Given the description of an element on the screen output the (x, y) to click on. 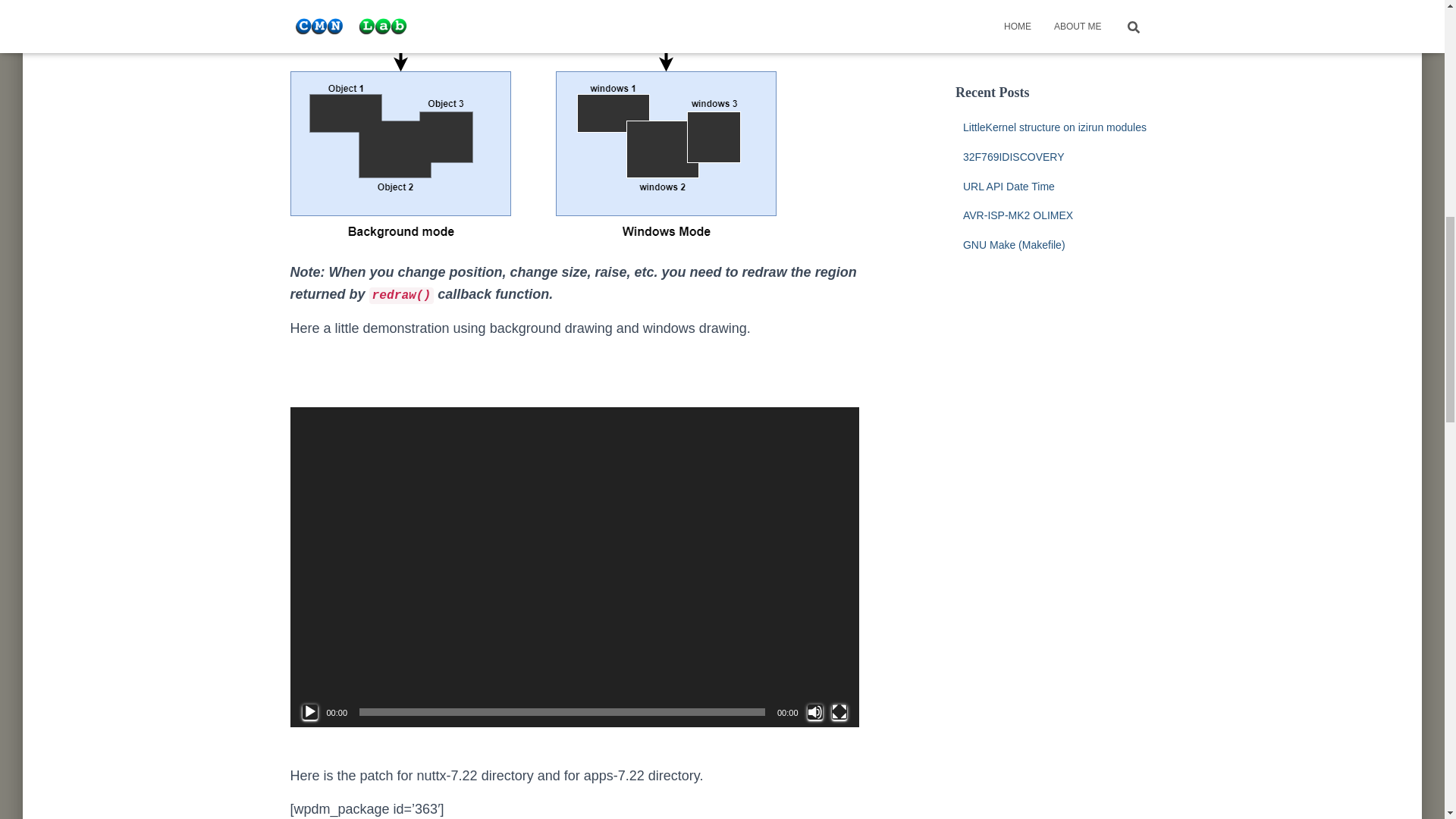
Mute (814, 711)
AVR-ISP-MK2 OLIMEX (1017, 215)
Programmer (1007, 16)
Fullscreen (838, 711)
Play (309, 711)
URL API Date Time (1008, 186)
32F769IDISCOVERY (1013, 156)
LittleKernel structure on izirun modules (1054, 127)
Uncategorized (996, 46)
